Given the description of an element on the screen output the (x, y) to click on. 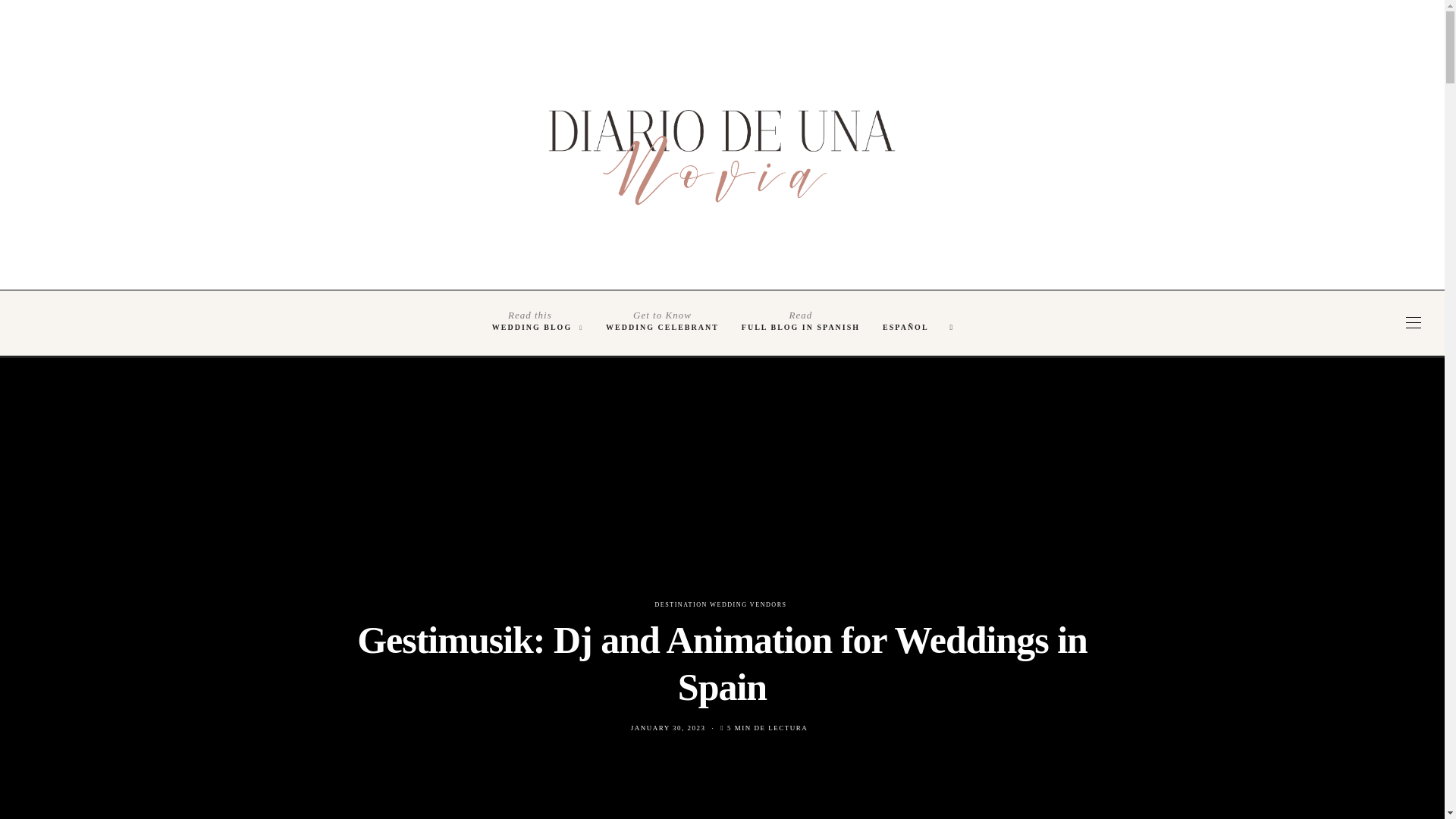
DESTINATION WEDDING VENDORS (721, 604)
JANUARY 30, 2023 (800, 322)
